Given the description of an element on the screen output the (x, y) to click on. 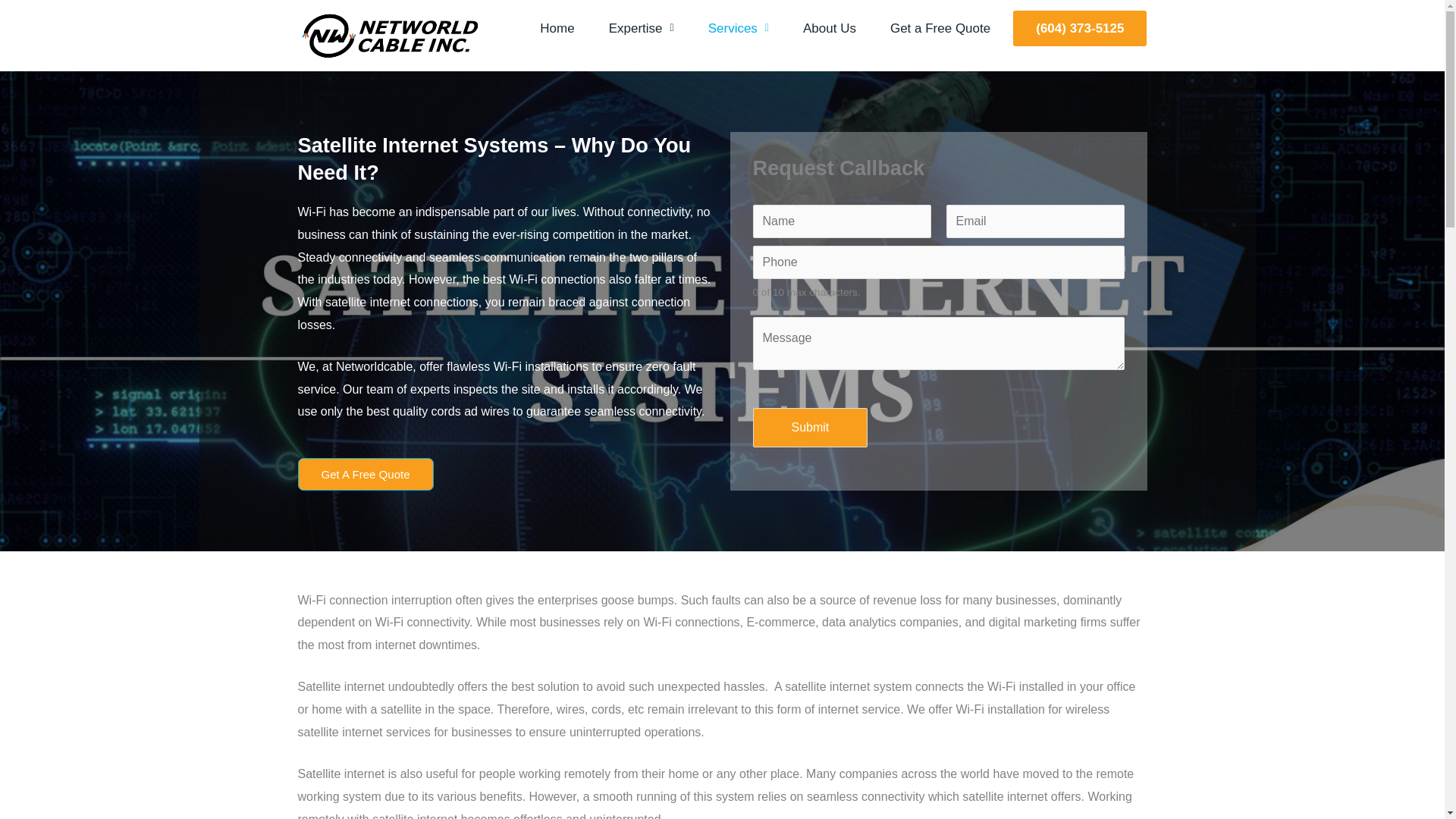
Home (556, 27)
Expertise (640, 27)
About Us (829, 27)
Services (738, 27)
Get a Free Quote (940, 27)
Submit (809, 427)
Get A Free Quote (364, 473)
